Given the description of an element on the screen output the (x, y) to click on. 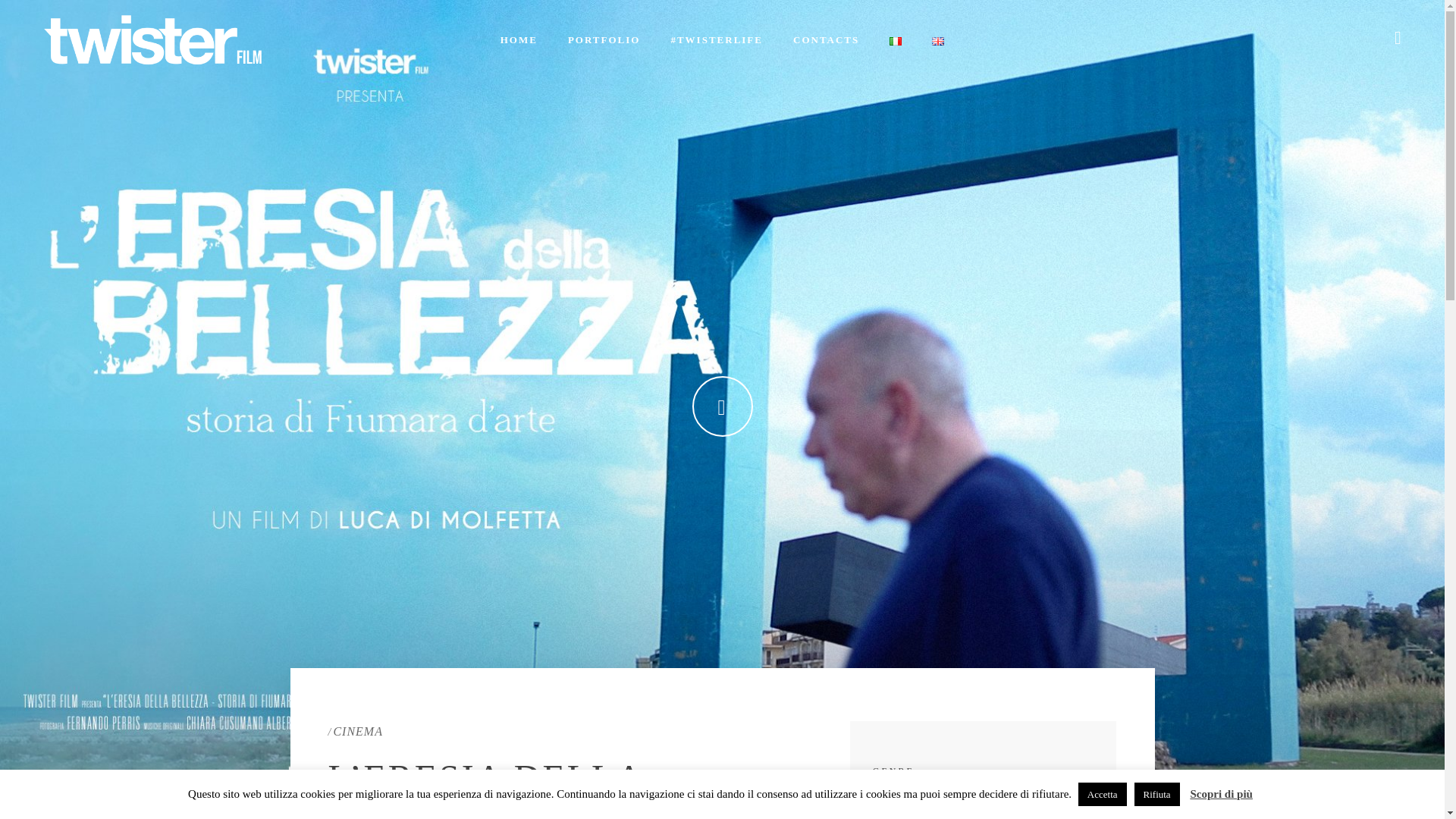
Twister film - Official page (152, 39)
PORTFOLIO (604, 39)
CONTACTS (826, 39)
CINEMA (356, 730)
